Given the description of an element on the screen output the (x, y) to click on. 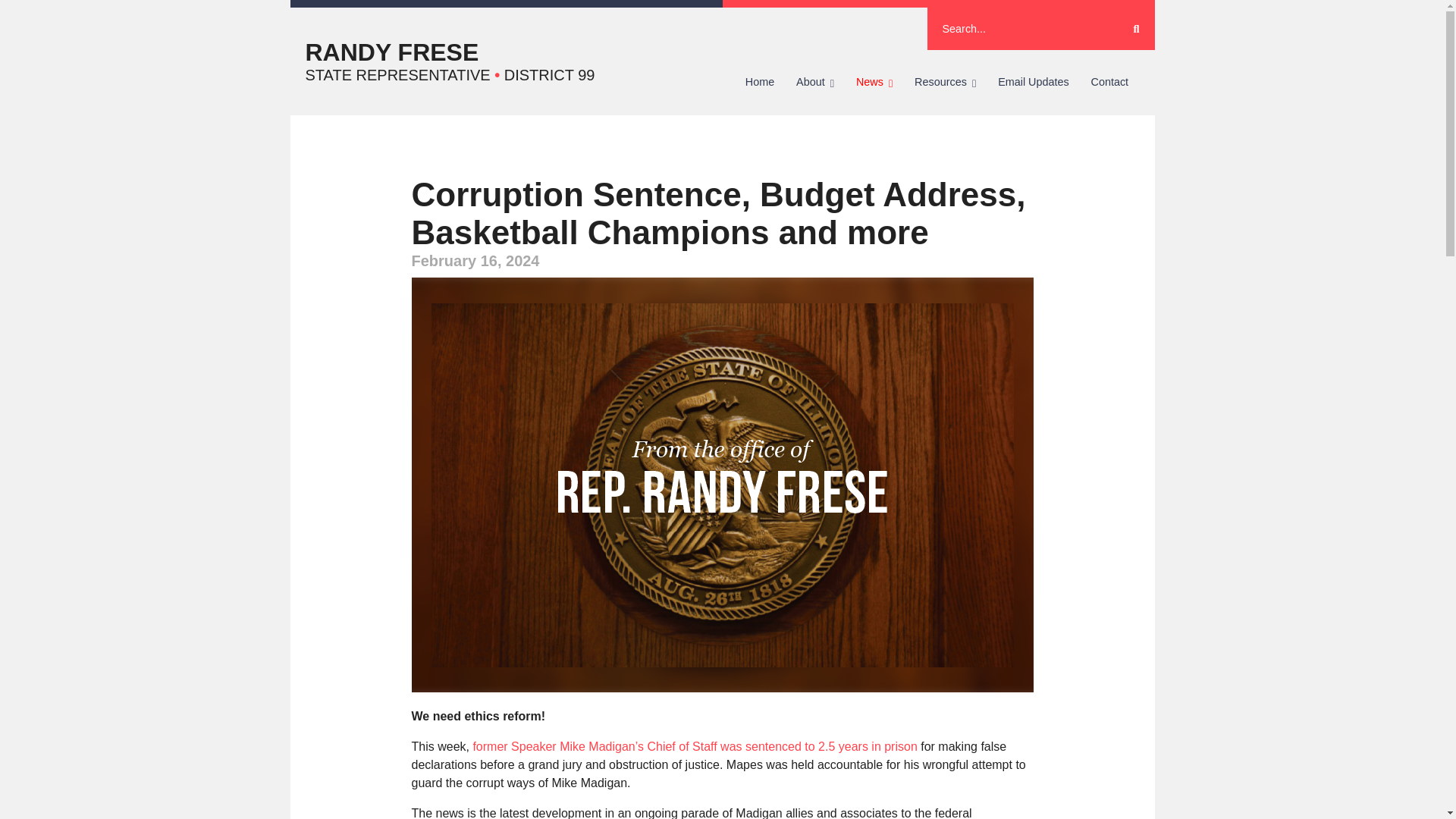
Contact (1109, 82)
About (815, 82)
Resources (945, 82)
Email Updates (1033, 82)
News (873, 82)
Home (758, 82)
